Given the description of an element on the screen output the (x, y) to click on. 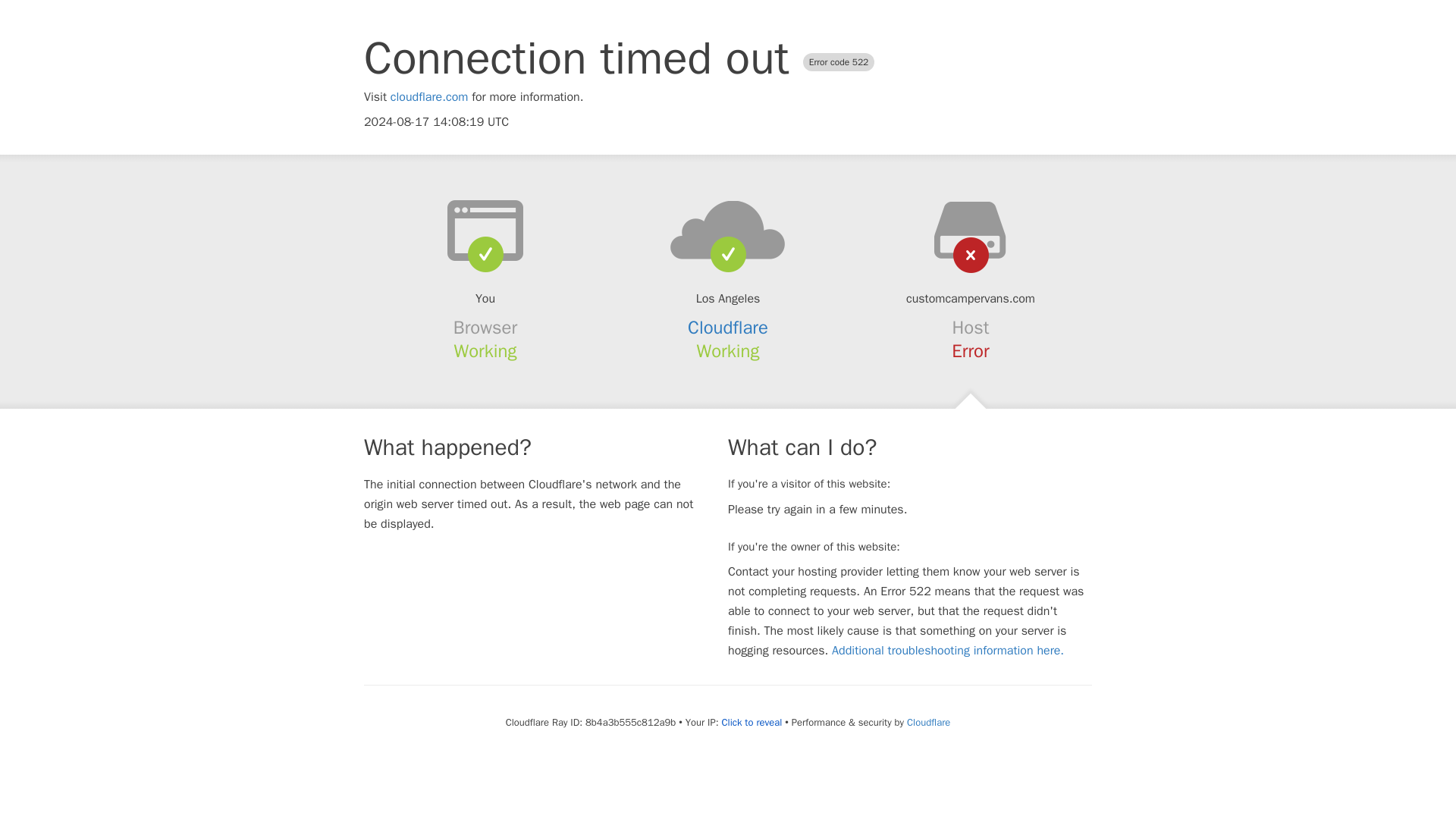
Click to reveal (750, 722)
Additional troubleshooting information here. (947, 650)
Cloudflare (727, 327)
cloudflare.com (429, 96)
Cloudflare (928, 721)
